Given the description of an element on the screen output the (x, y) to click on. 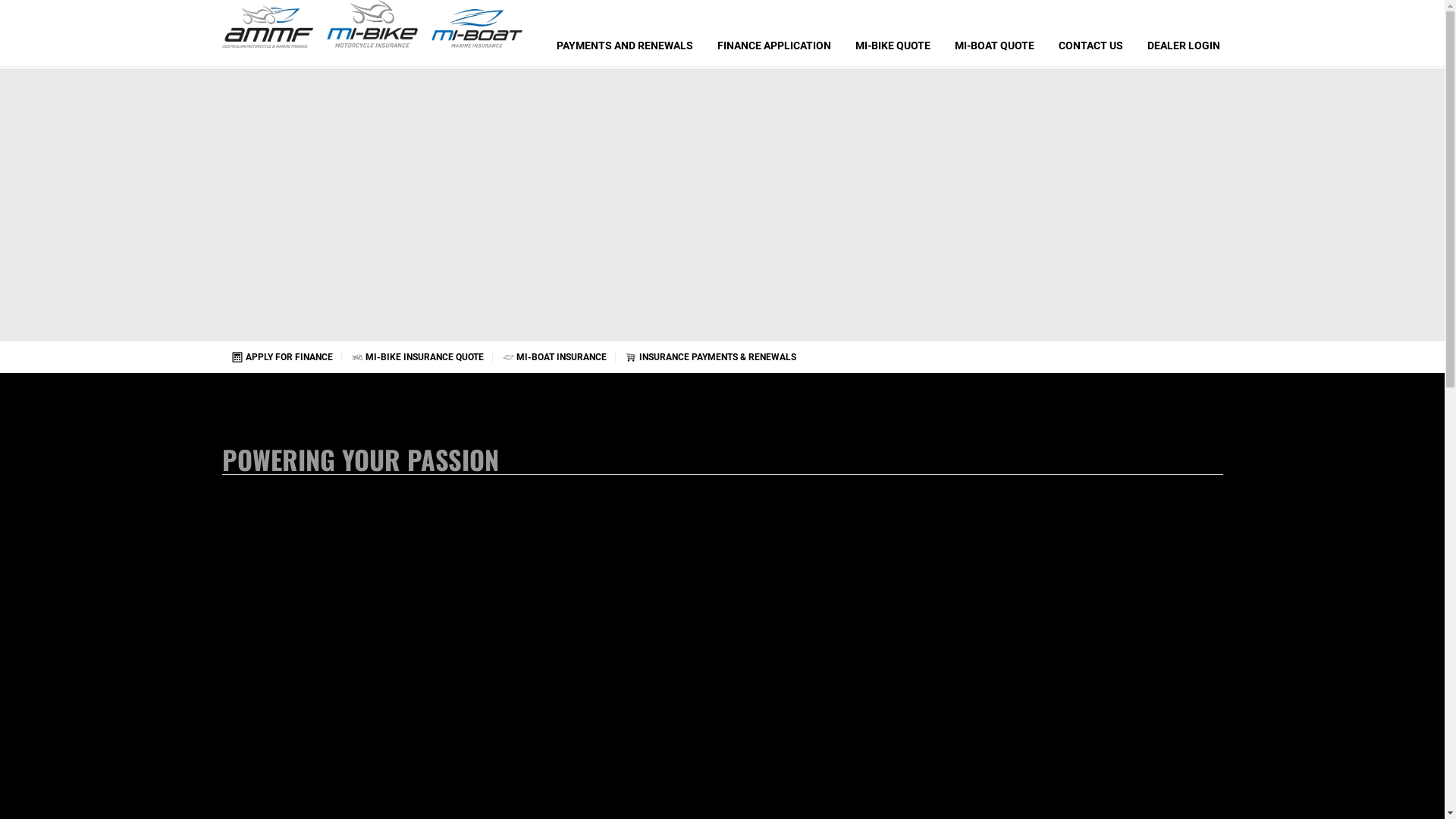
MI-BIKE INSURANCE QUOTE Element type: text (416, 357)
CONTACT US Element type: text (1090, 32)
INSURANCE PAYMENTS & RENEWALS Element type: text (710, 357)
MI-BIKE QUOTE Element type: text (892, 32)
PAYMENTS AND RENEWALS Element type: text (624, 32)
MI-BOAT QUOTE Element type: text (993, 32)
FINANCE APPLICATION Element type: text (774, 32)
APPLY FOR FINANCE Element type: text (281, 357)
MI-BOAT INSURANCE Element type: text (553, 357)
DEALER LOGIN Element type: text (1182, 32)
